Given the description of an element on the screen output the (x, y) to click on. 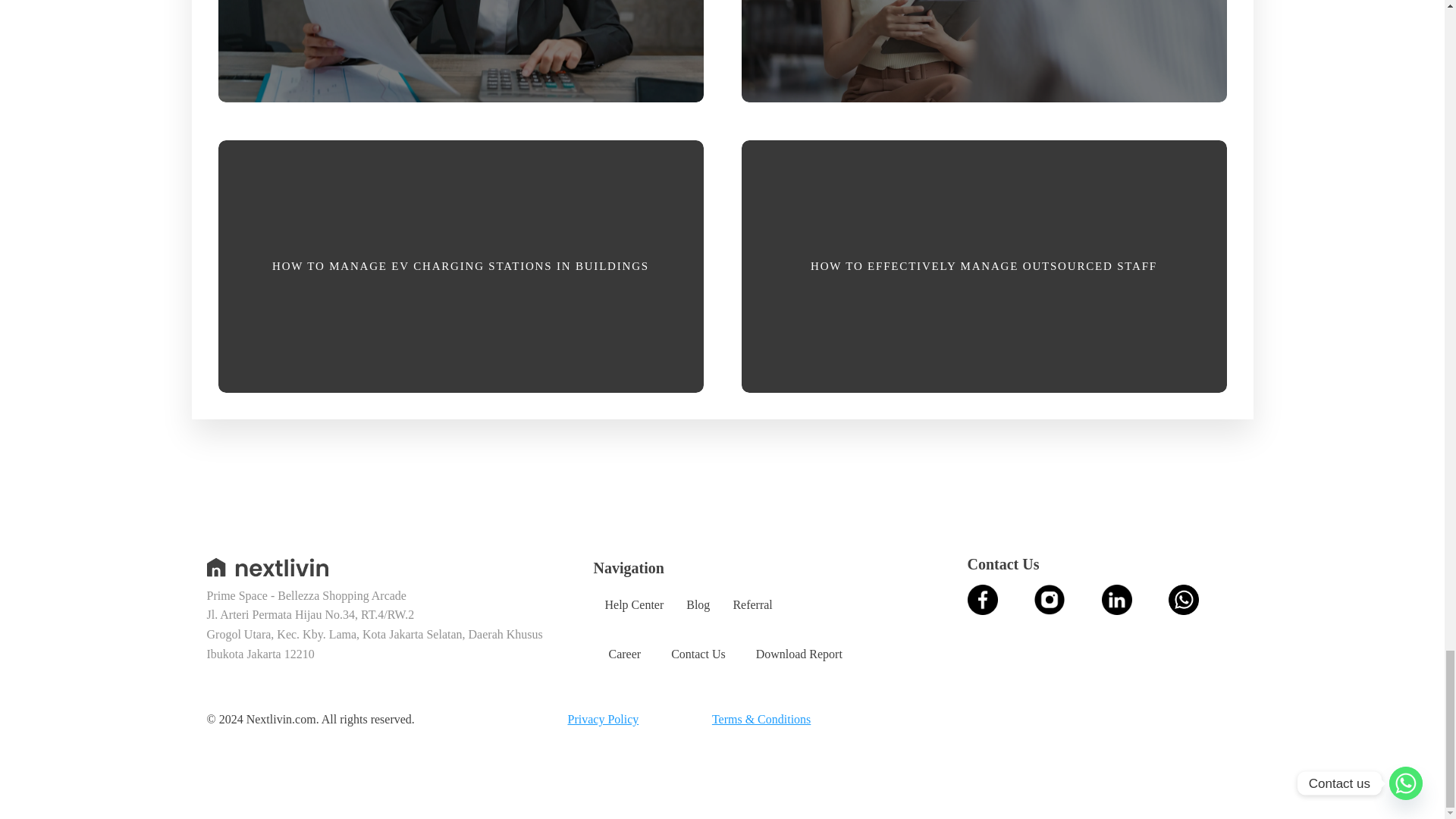
Blog (697, 604)
Download Report (799, 654)
Career (624, 654)
Privacy Policy (603, 719)
Referral (751, 604)
Help Center (633, 604)
Contact Us (698, 654)
7 STEPS IN NEGOTIATING WITH VENDORS IN PROPERTY MANAGEMENT (983, 56)
